Given the description of an element on the screen output the (x, y) to click on. 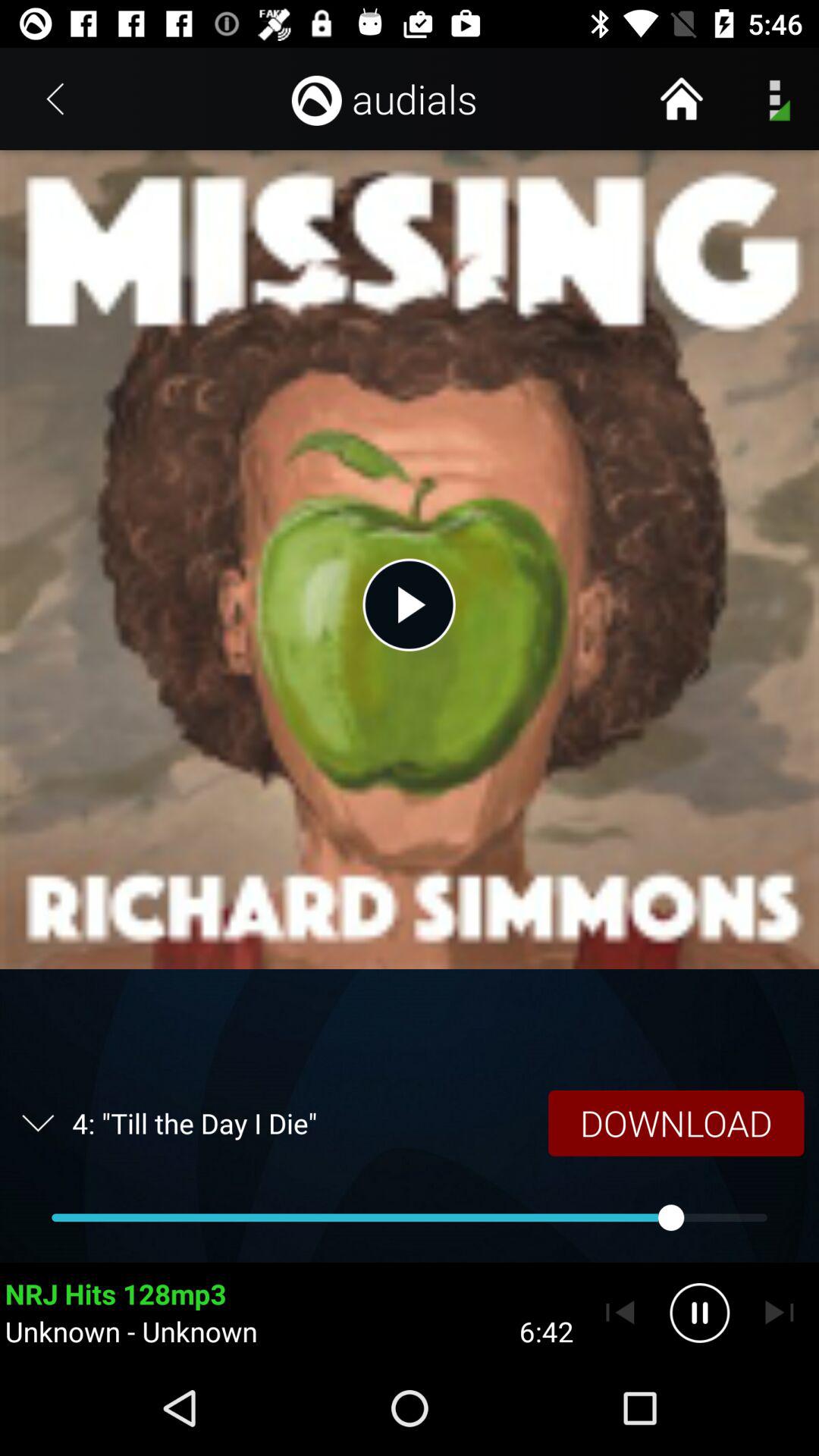
pause the song (699, 1312)
